Given the description of an element on the screen output the (x, y) to click on. 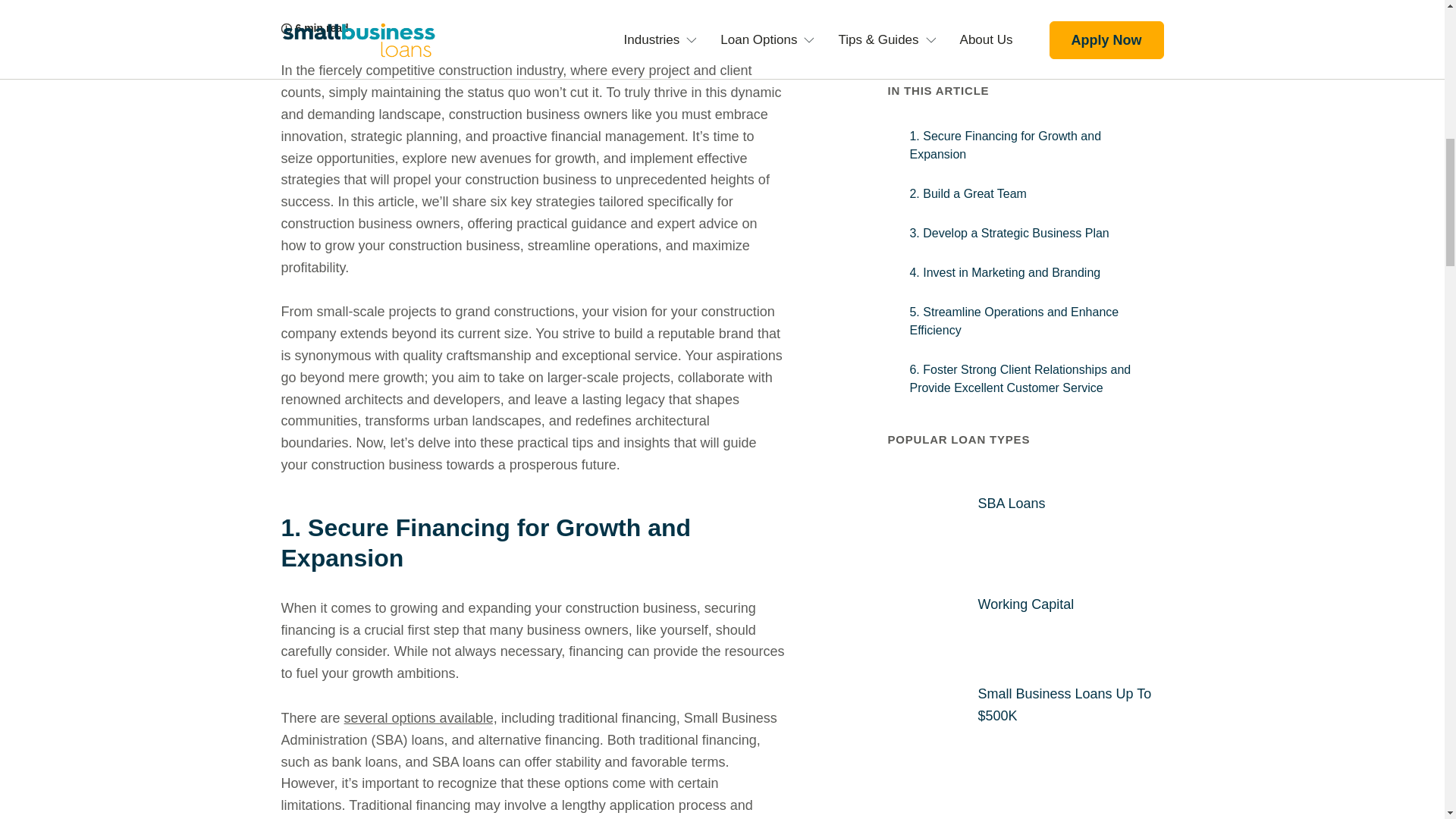
4. Invest in Marketing and Branding (1024, 218)
2. Build a Great Team (1024, 139)
several options available, (420, 717)
5. Streamline Operations and Enhance Efficiency (1024, 266)
1. Secure Financing for Growth and Expansion (532, 542)
Working Capital (1025, 549)
SBA Loans (1010, 449)
3. Develop a Strategic Business Plan (1024, 178)
1. Secure Financing for Growth and Expansion (1024, 91)
